Given the description of an element on the screen output the (x, y) to click on. 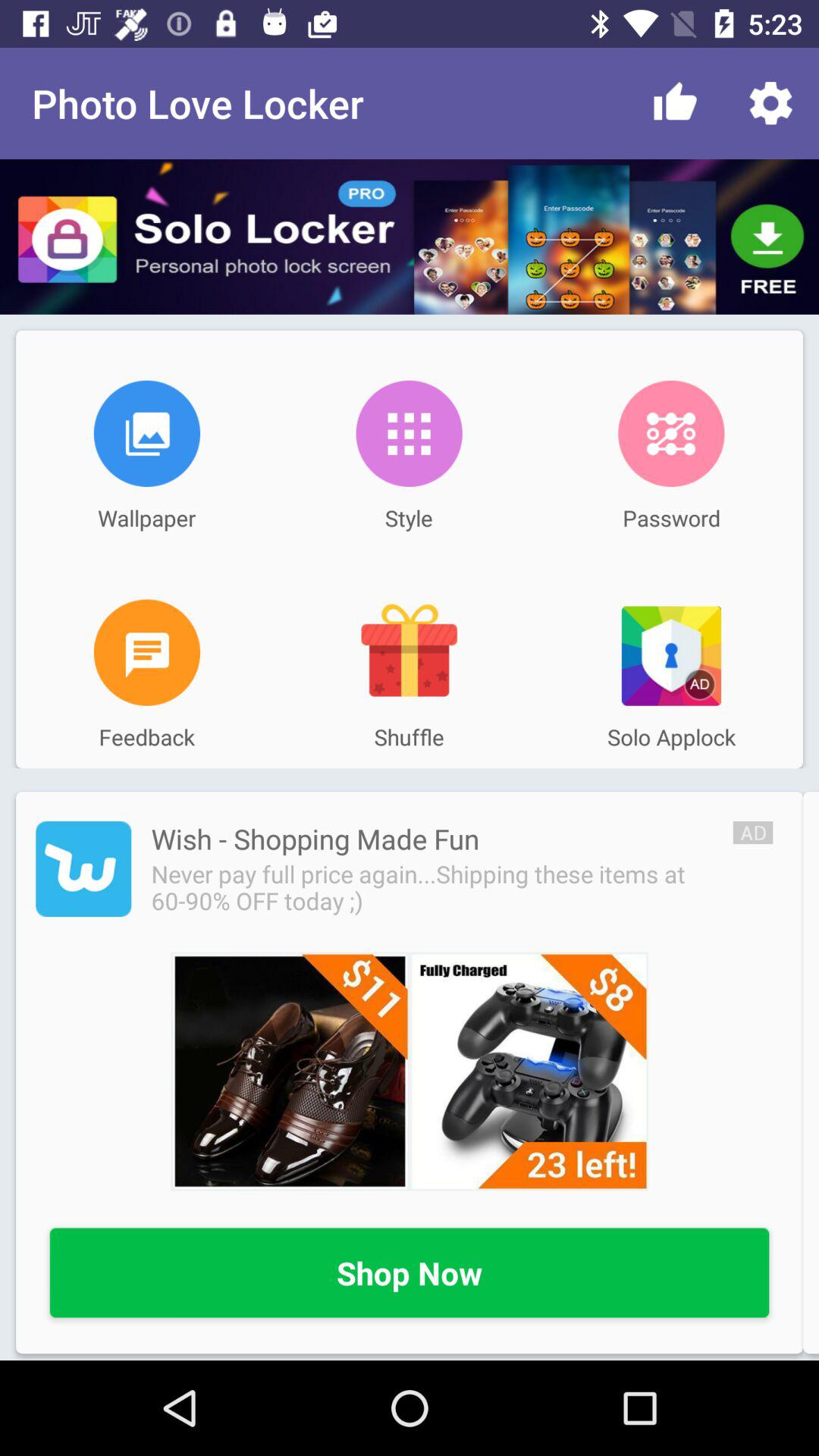
go to application page (83, 868)
